Given the description of an element on the screen output the (x, y) to click on. 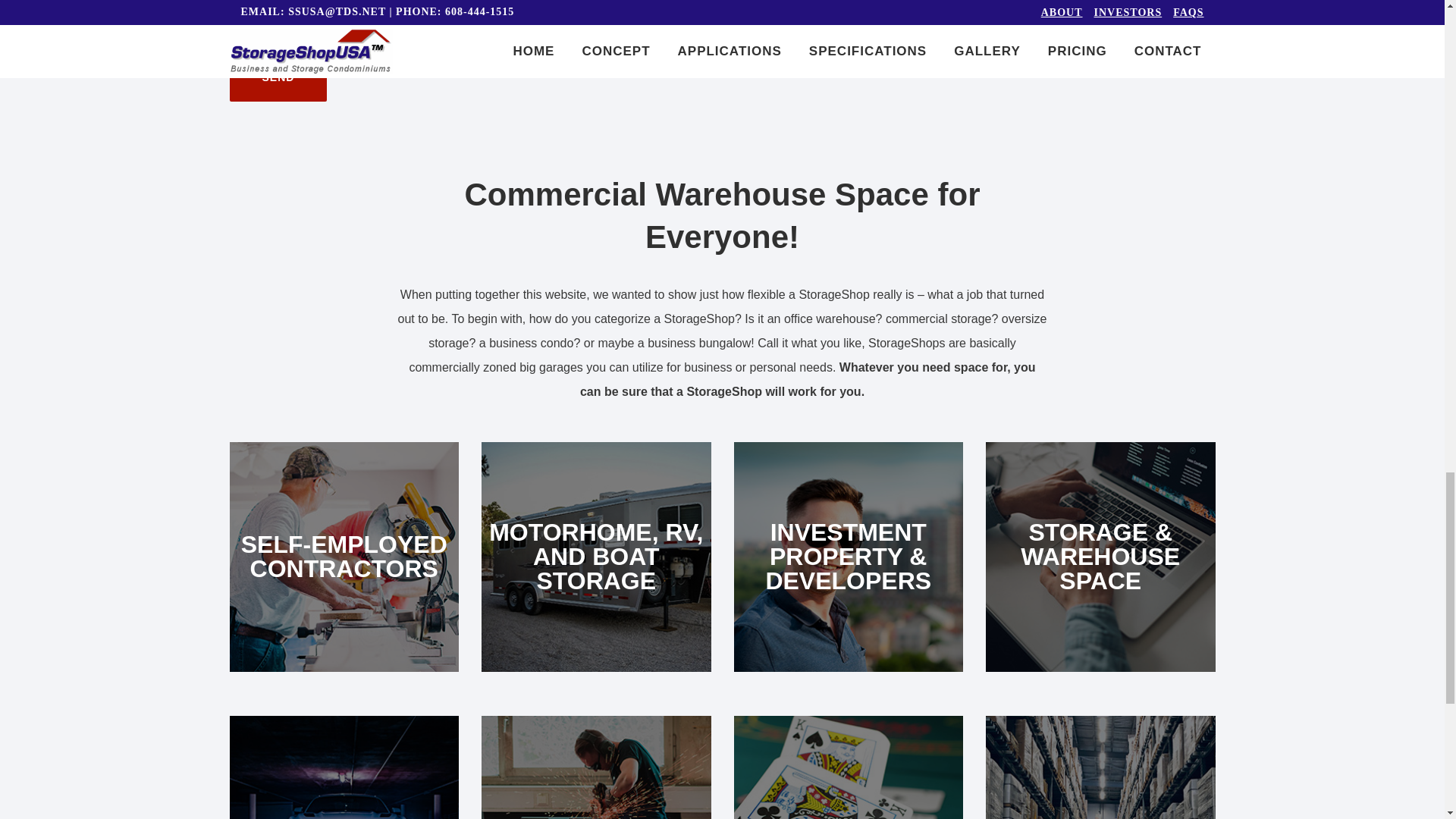
Send (277, 77)
Send (277, 77)
